Given the description of an element on the screen output the (x, y) to click on. 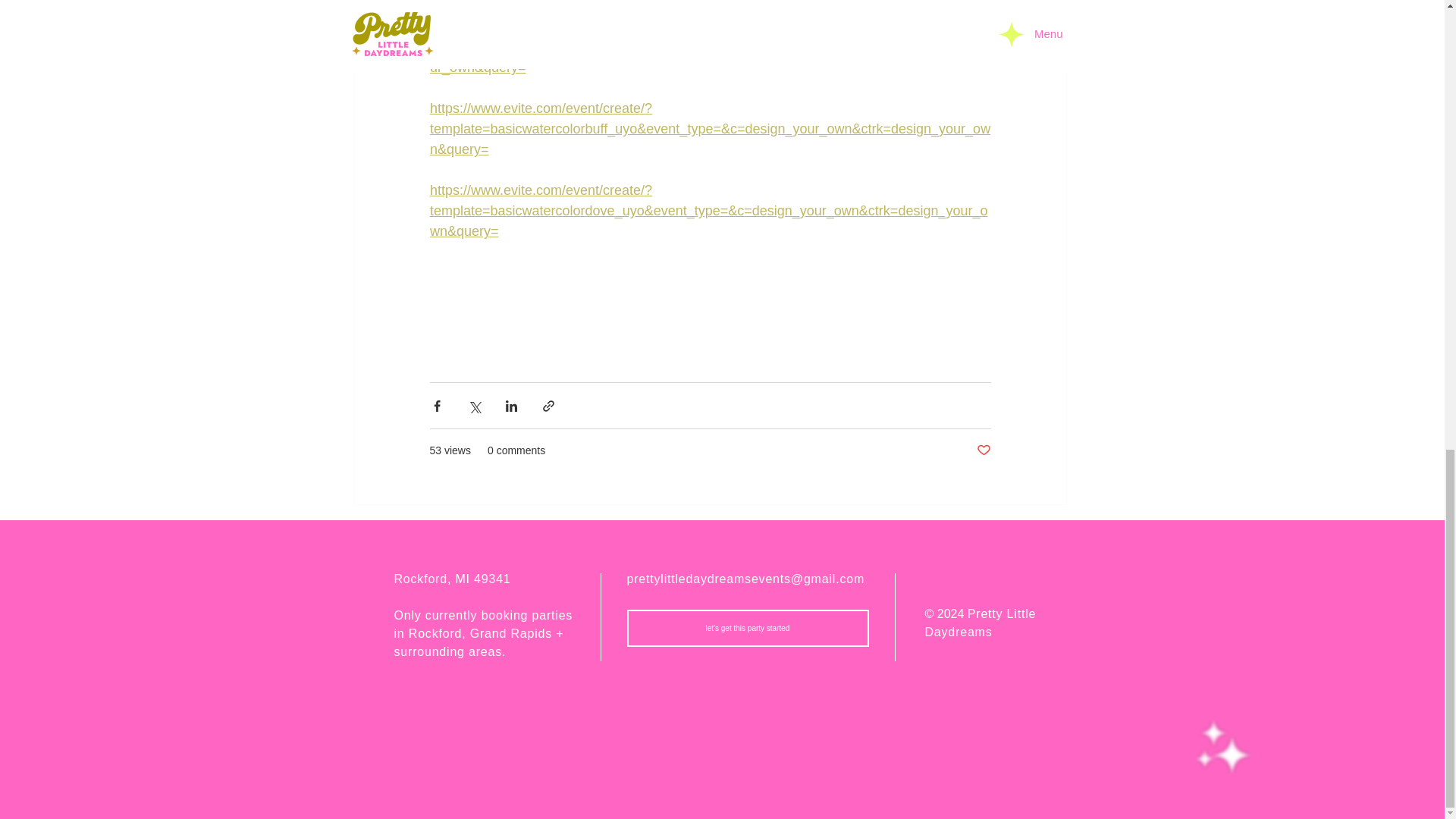
Post not marked as liked (983, 450)
let's get this party started (746, 628)
